Given the description of an element on the screen output the (x, y) to click on. 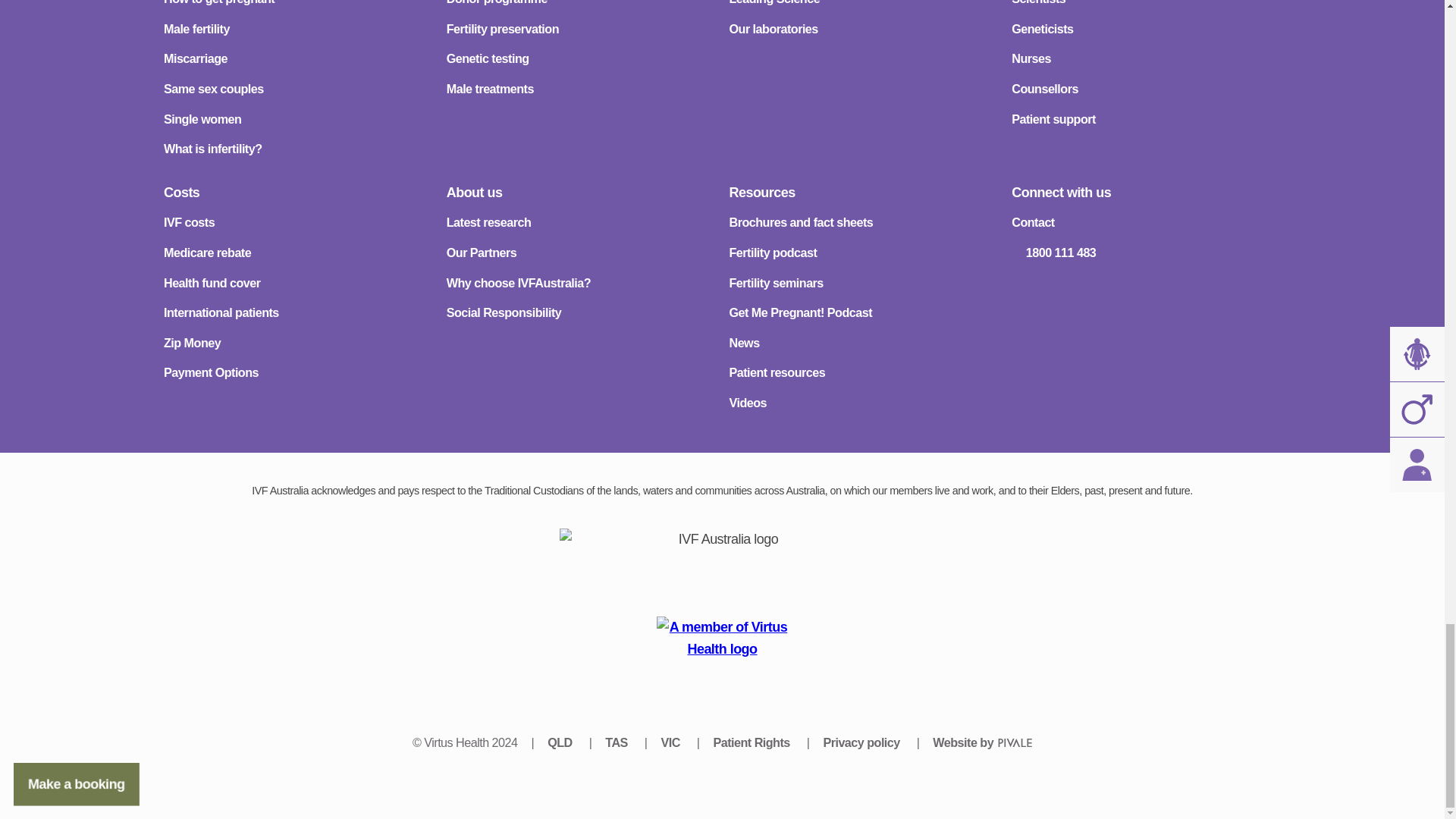
Opens in a new tab (982, 742)
Opens in a new tab (722, 646)
Opens in a new tab (671, 742)
Opens in a new tab (617, 742)
Opens in a new tab (561, 742)
